Given the description of an element on the screen output the (x, y) to click on. 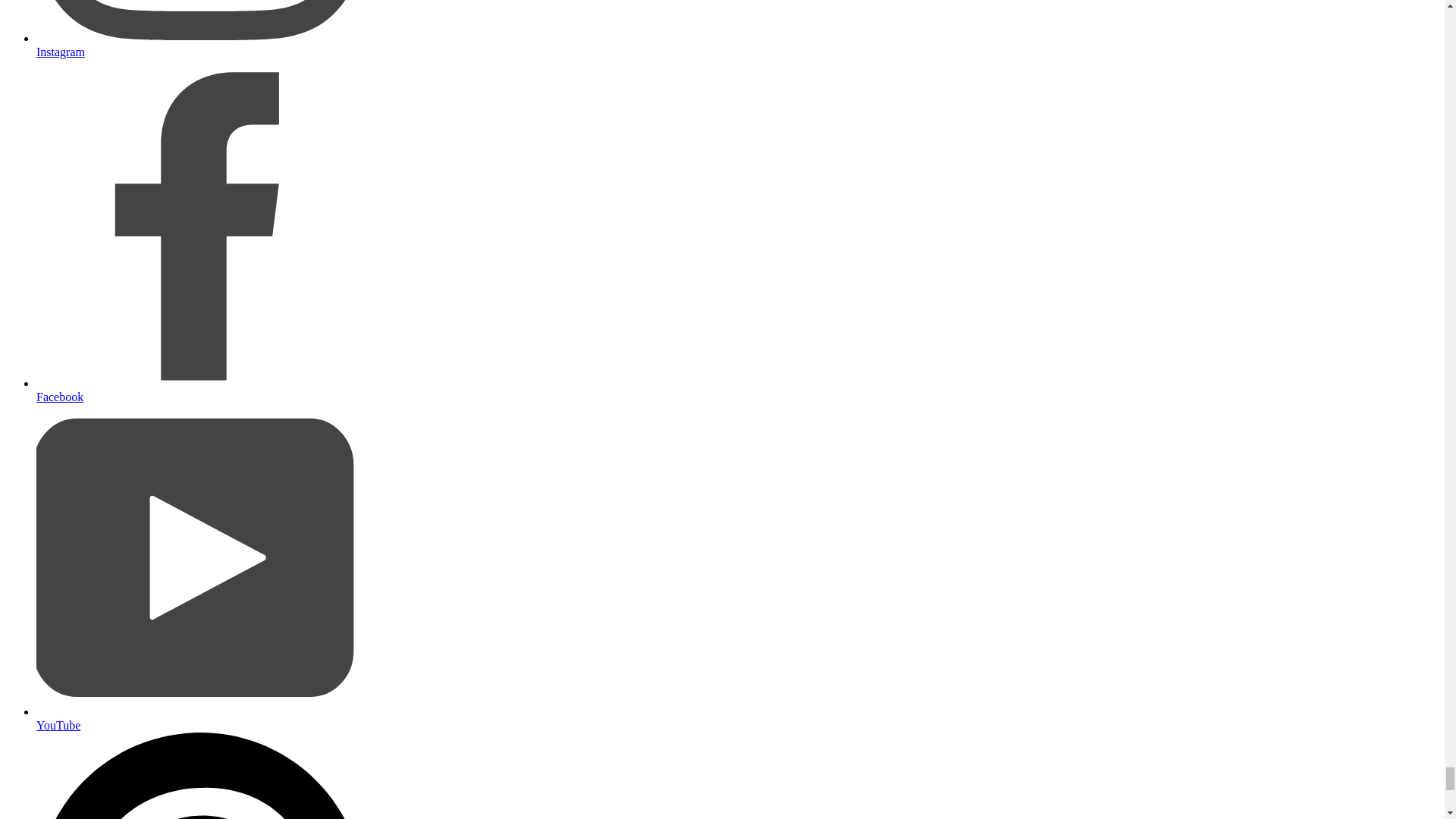
MISMO Body Care on YouTube (200, 718)
MISMO Body Care on Instagram (200, 44)
MISMO Body Care on Facebook (200, 388)
